Given the description of an element on the screen output the (x, y) to click on. 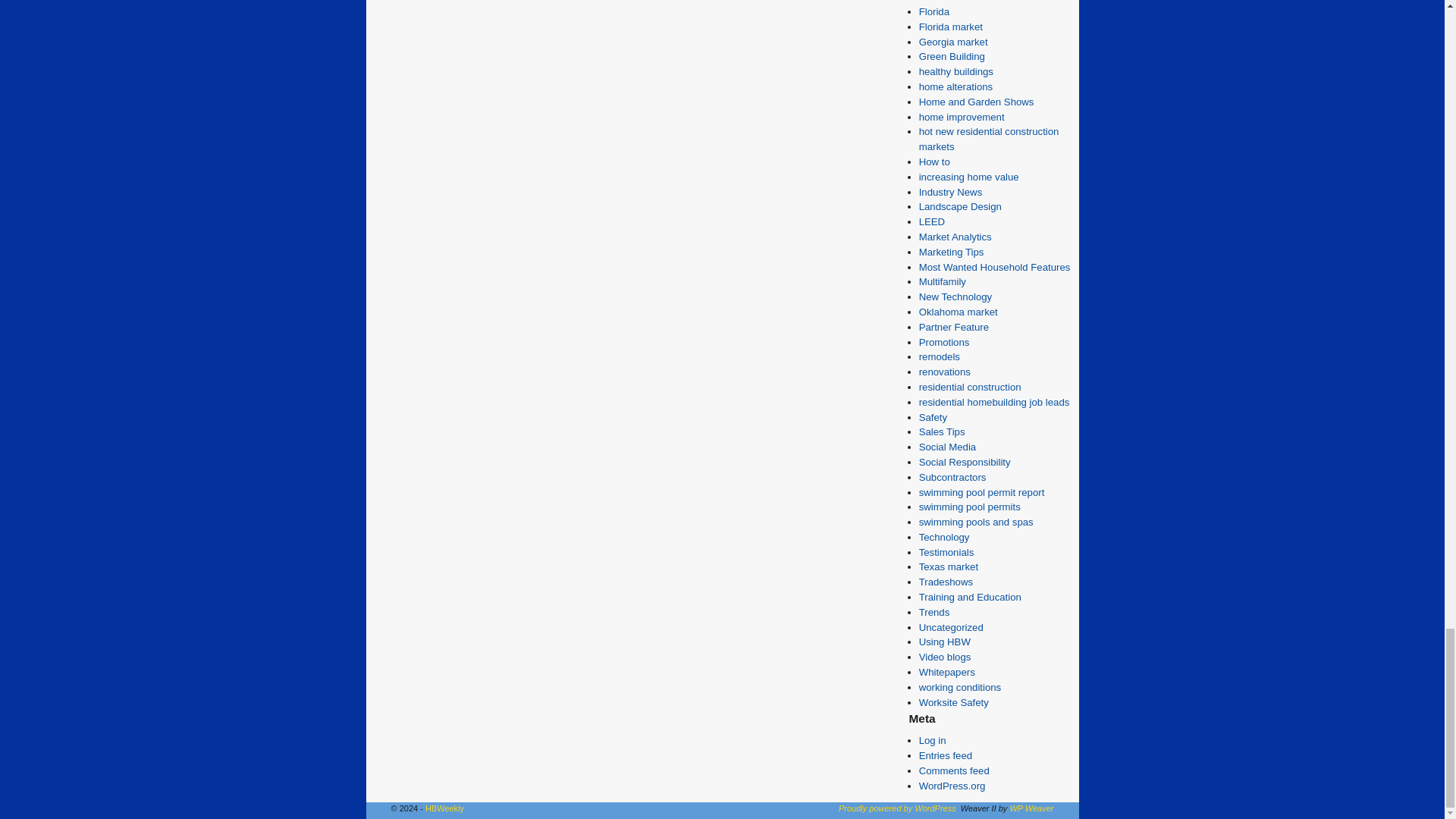
wordpress.org (897, 808)
HBWeekly Client Testimonials (946, 552)
How to use HBWeekly  (944, 641)
HBWeekly (444, 808)
Featured County Reports  (959, 1)
The latest construction and builder industry news  (950, 192)
Trends in Construction and Market Information (934, 612)
